Given the description of an element on the screen output the (x, y) to click on. 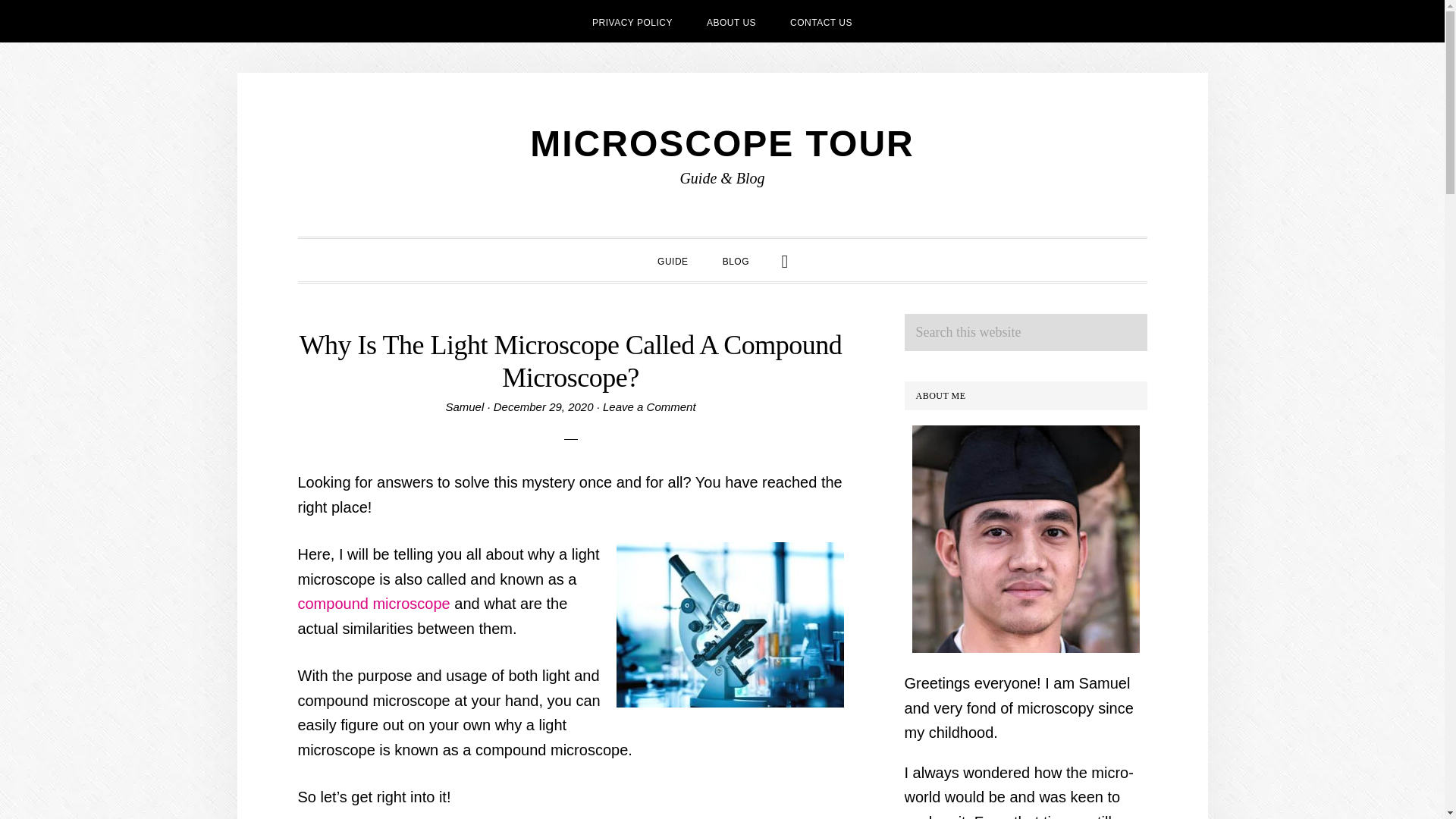
BLOG (735, 259)
CONTACT US (820, 21)
ABOUT US (731, 21)
Leave a Comment (648, 406)
Samuel (464, 406)
PRIVACY POLICY (631, 21)
compound microscope (373, 603)
